Given the description of an element on the screen output the (x, y) to click on. 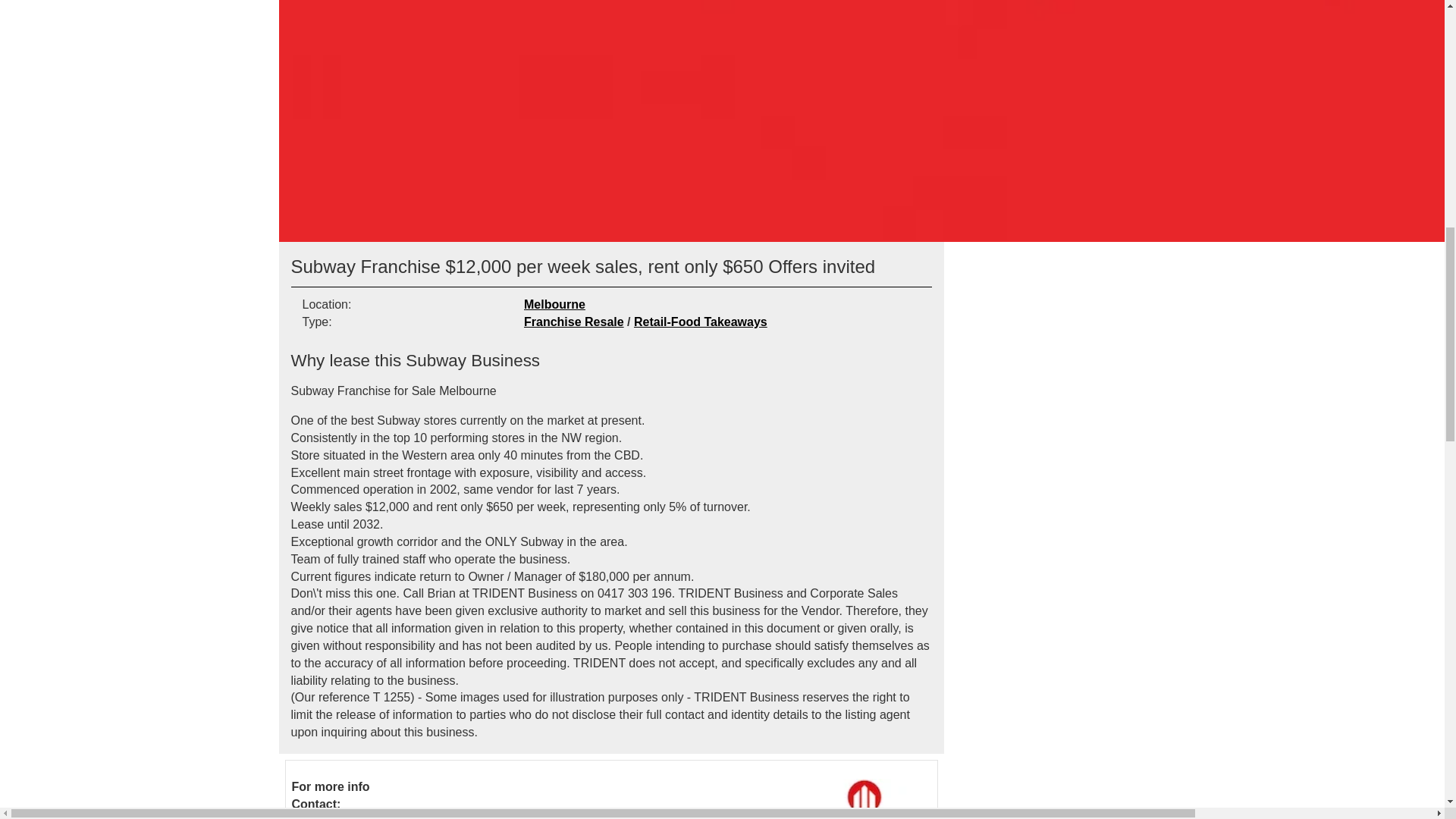
Melbourne (554, 304)
Franchise Resale (574, 321)
Retail-Food Takeaways (700, 321)
